Given the description of an element on the screen output the (x, y) to click on. 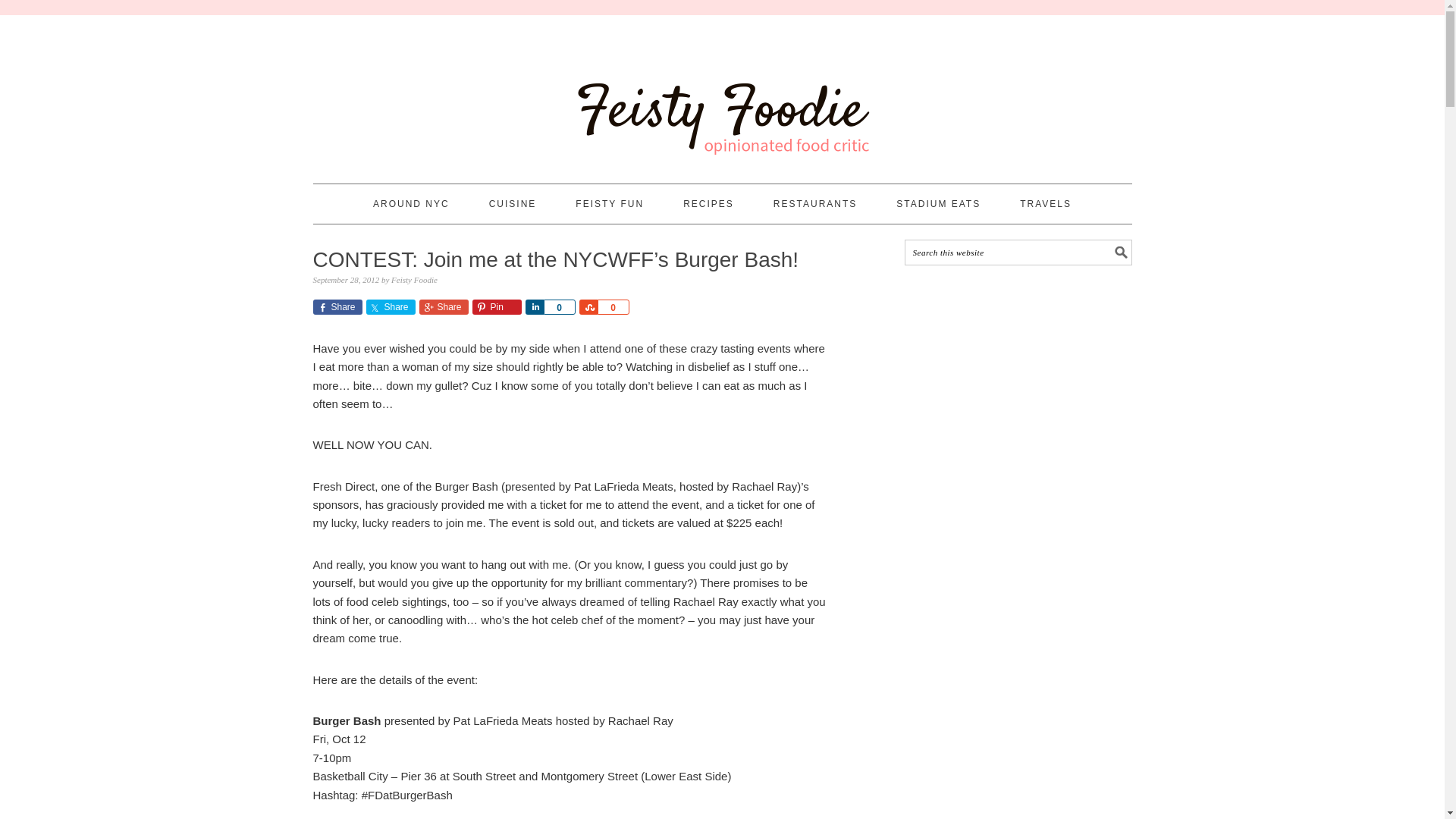
The Feisty Foodie (722, 92)
AROUND NYC (410, 203)
CUISINE (513, 203)
